Given the description of an element on the screen output the (x, y) to click on. 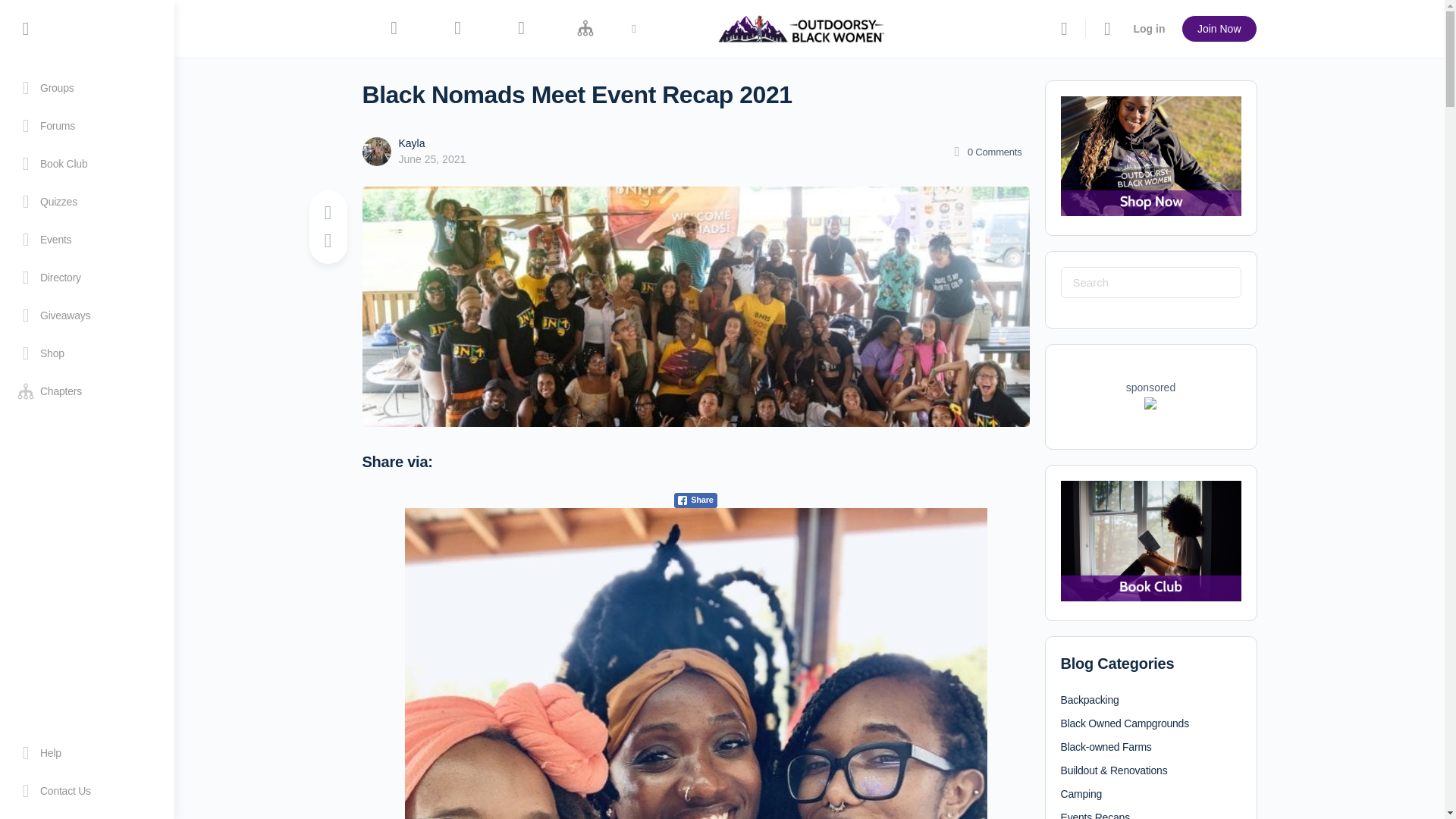
Forums (87, 125)
Chapters (87, 391)
Giveaways (87, 315)
Directory (87, 277)
Help (87, 752)
Quizzes (87, 201)
Shop (87, 353)
Contact Us (87, 790)
Join Now (1218, 28)
Events (87, 239)
Log in (1148, 28)
Book Club (87, 163)
Groups (87, 87)
